Given the description of an element on the screen output the (x, y) to click on. 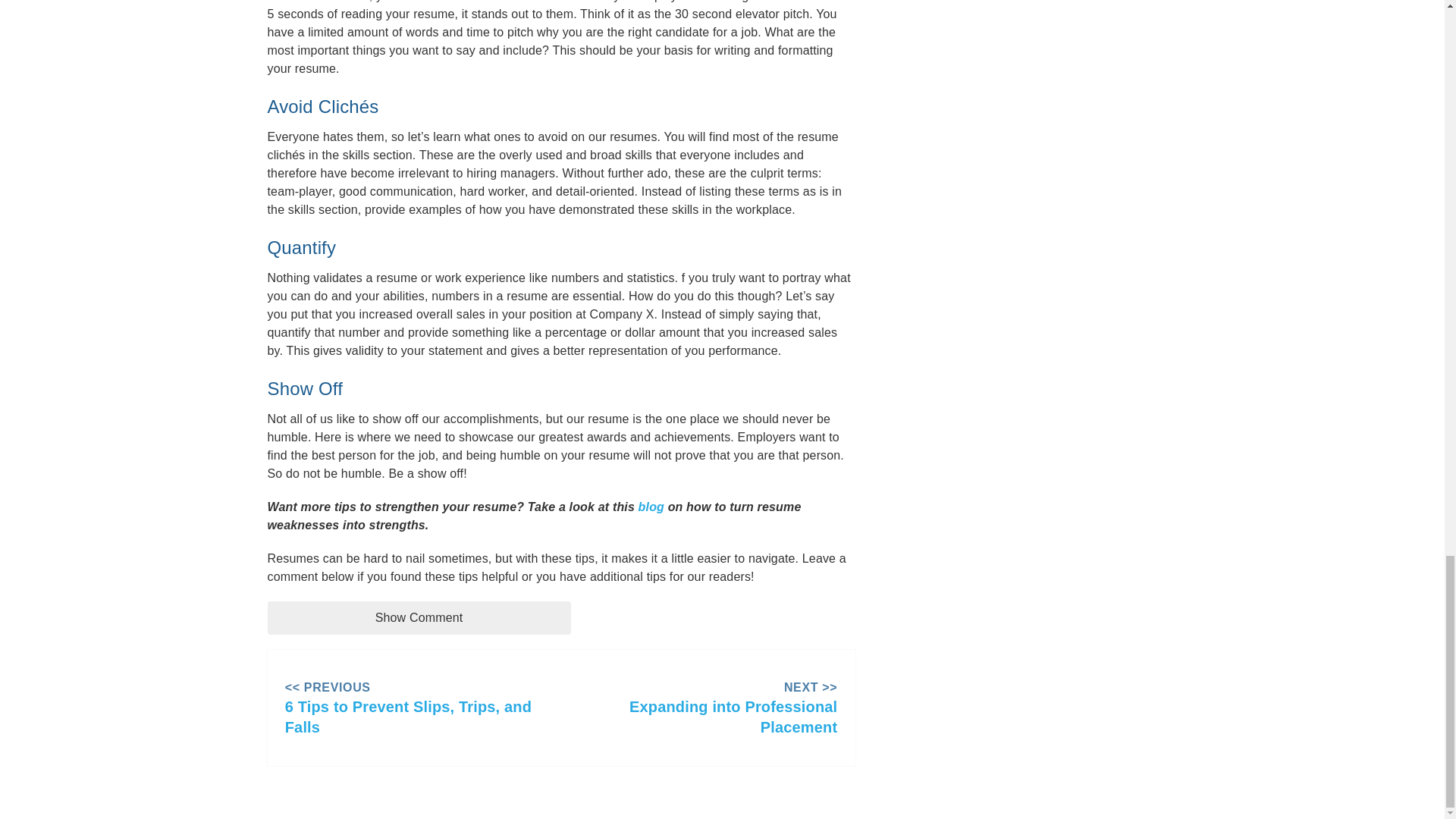
blog (651, 506)
Expanding into Professional Placement (561, 716)
6 Tips to Prevent Slips, Trips, and Falls (414, 716)
